Given the description of an element on the screen output the (x, y) to click on. 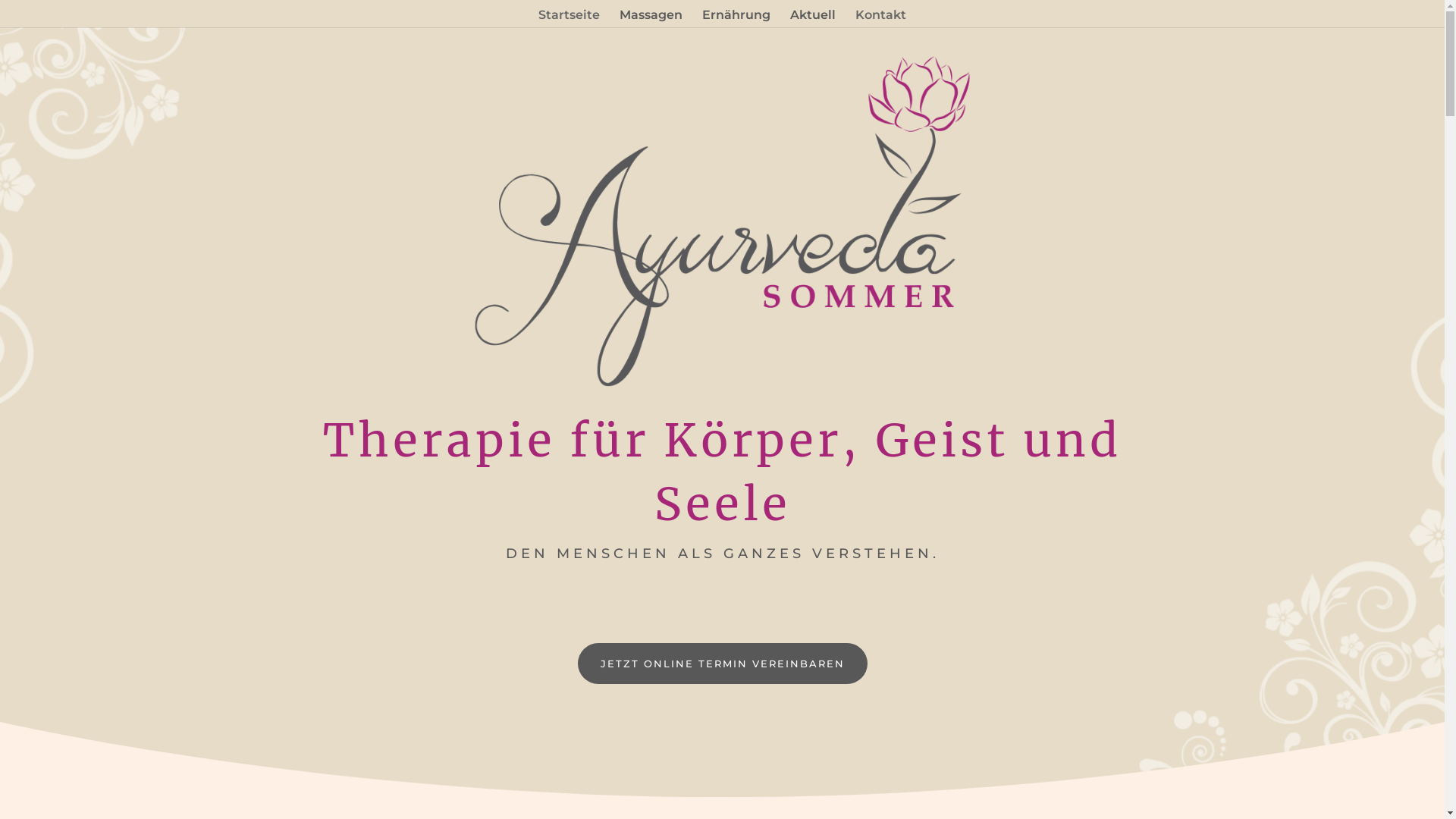
Startseite Element type: text (568, 18)
Massagen Element type: text (650, 18)
JETZT ONLINE TERMIN VEREINBAREN Element type: text (722, 663)
Kontakt Element type: text (880, 18)
Aktuell Element type: text (812, 18)
